Given the description of an element on the screen output the (x, y) to click on. 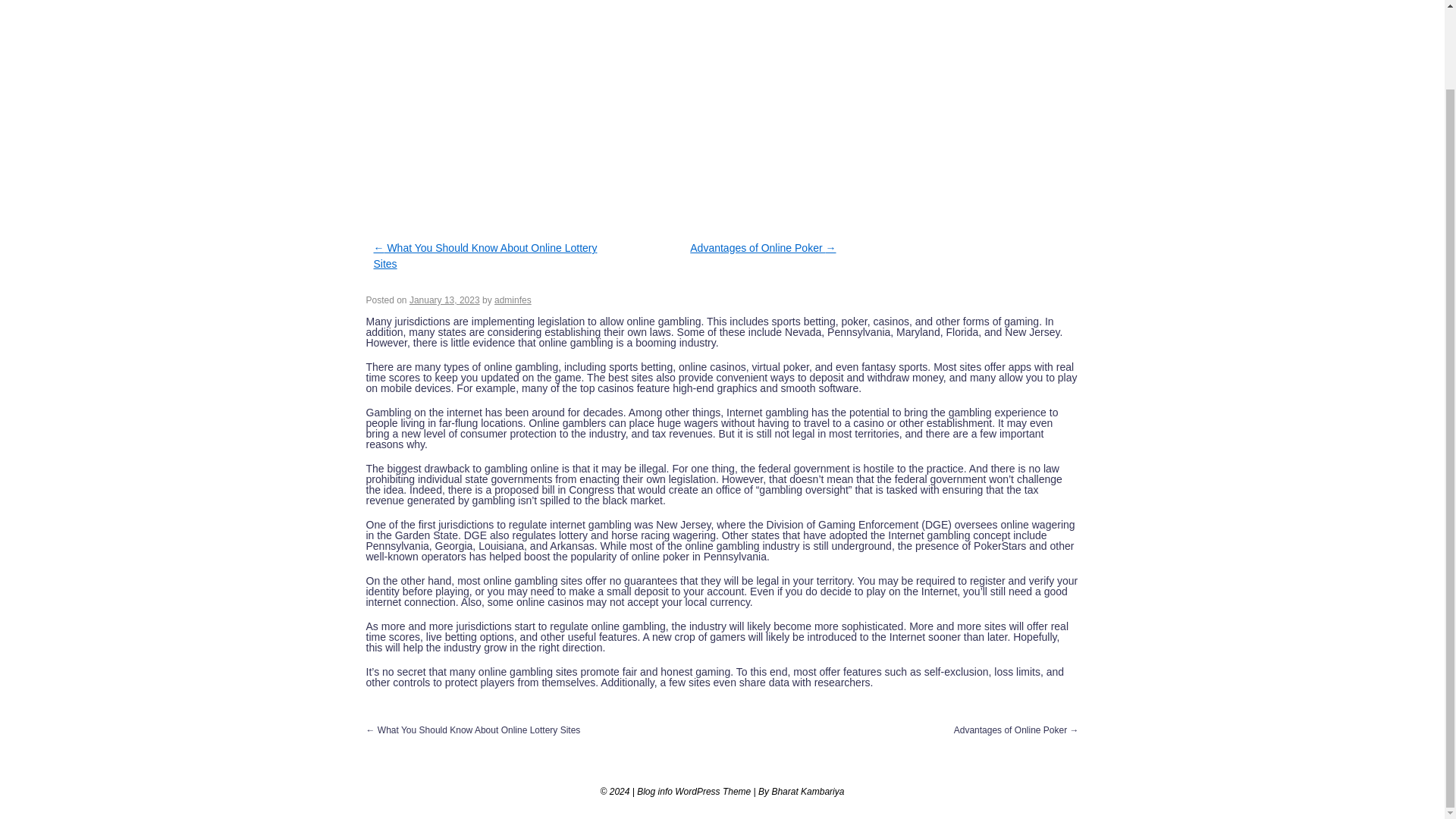
adminfes (513, 299)
January 13, 2023 (444, 299)
View all posts by adminfes (513, 299)
1:46 am (444, 299)
